Given the description of an element on the screen output the (x, y) to click on. 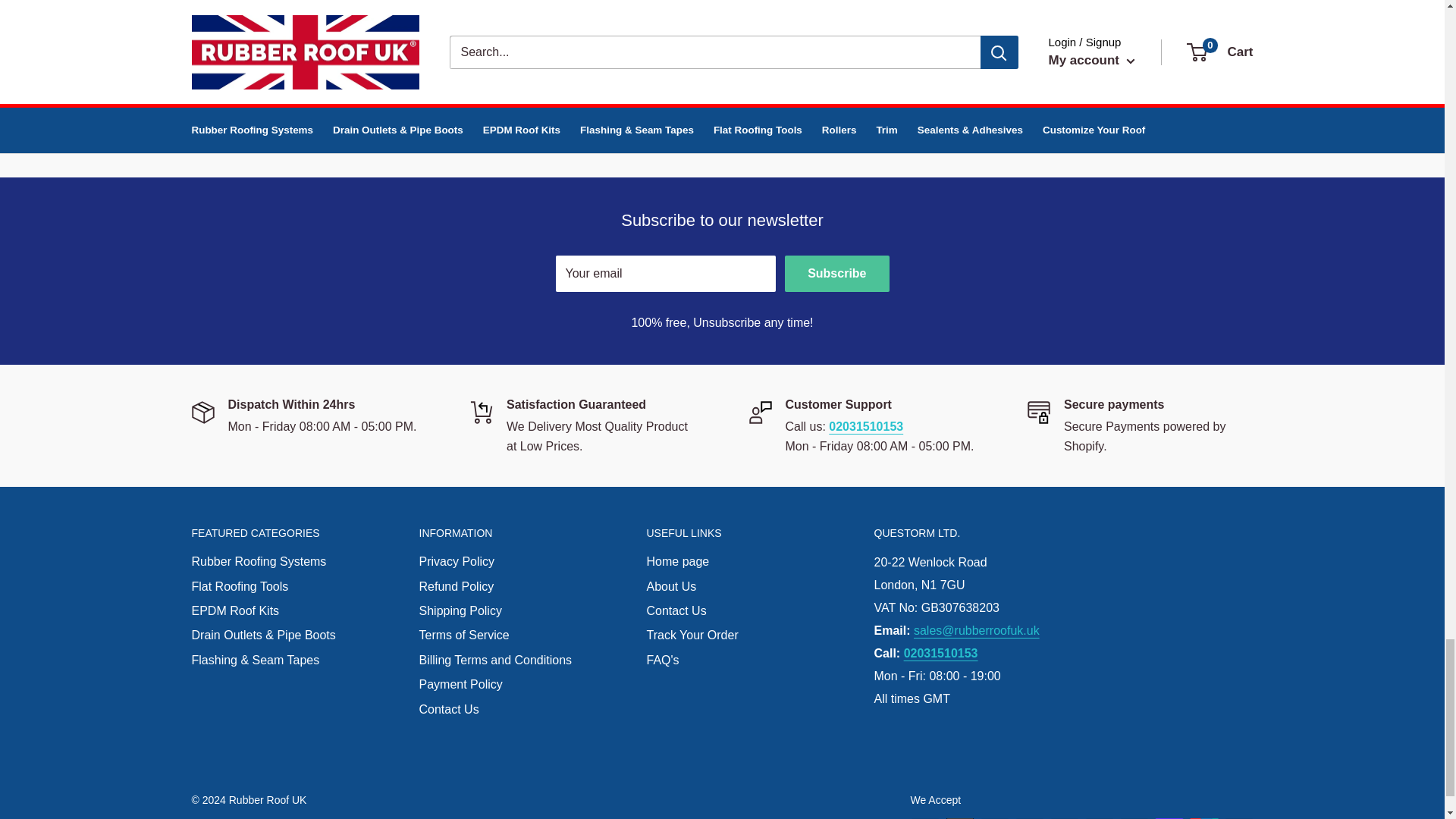
tel:02031510153 (865, 426)
Subscribe (836, 273)
02031510153 (518, 72)
